Given the description of an element on the screen output the (x, y) to click on. 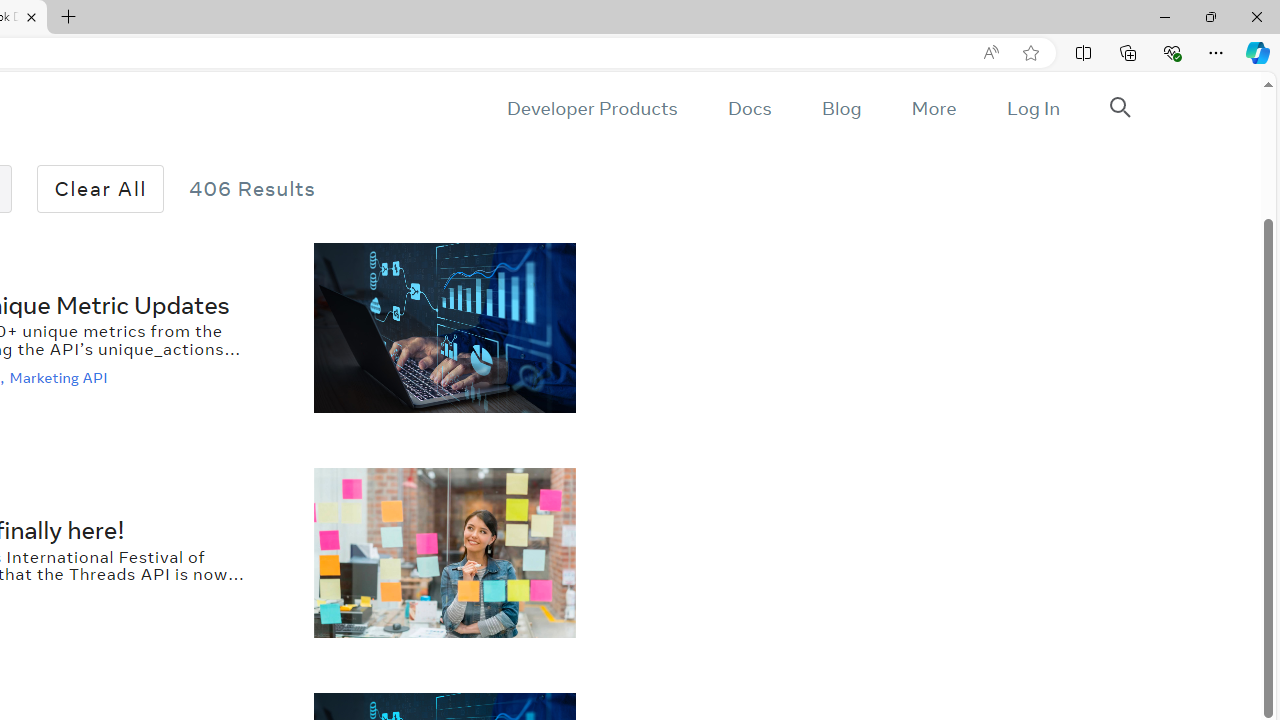
Docs (749, 108)
Blog (841, 108)
Developer Products (591, 108)
Log In (1032, 108)
